Given the description of an element on the screen output the (x, y) to click on. 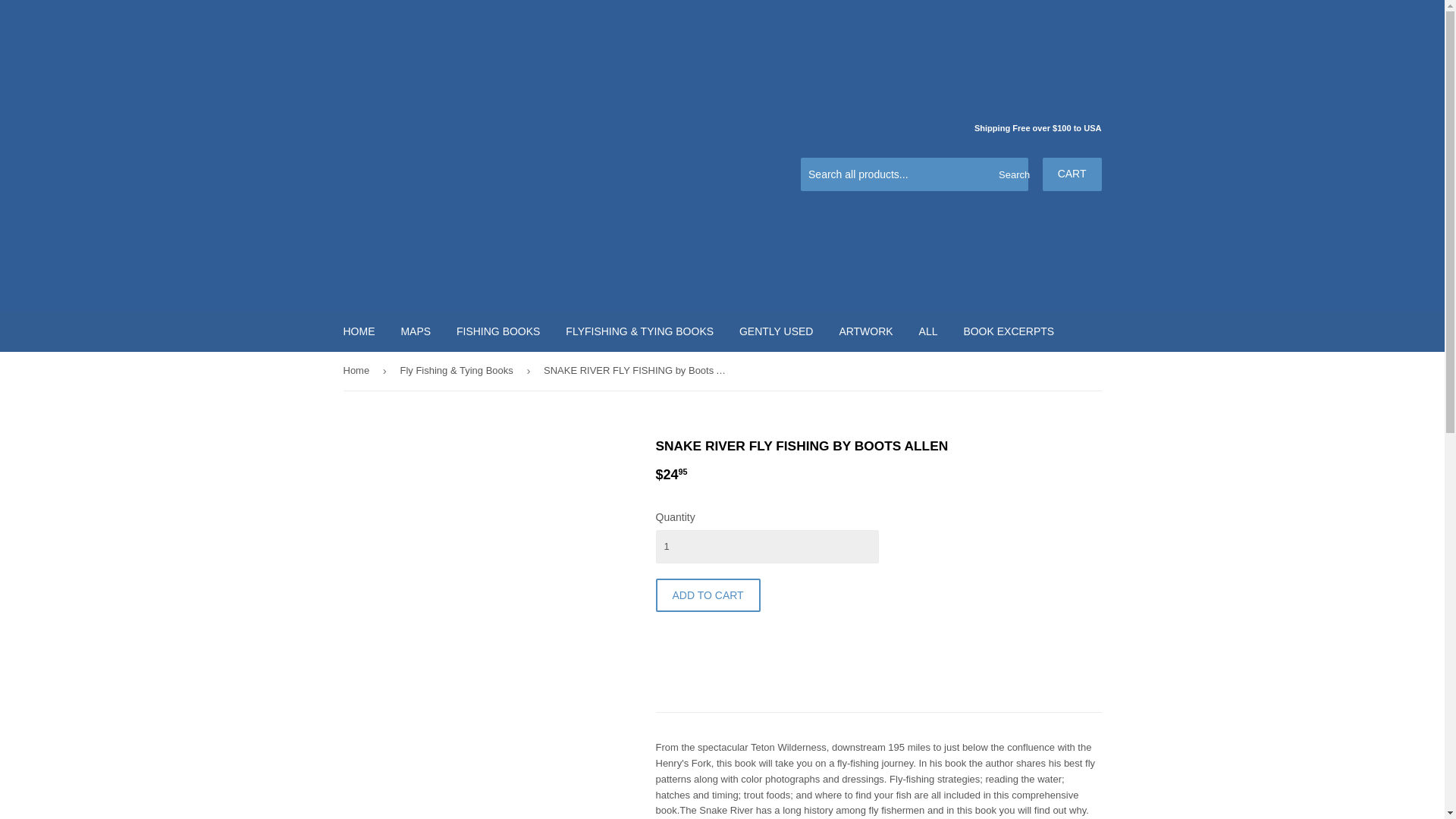
ALL (928, 331)
Search (1010, 174)
CART (1072, 174)
GENTLY USED (776, 331)
ADD TO CART (707, 594)
ARTWORK (865, 331)
BOOK EXCERPTS (1008, 331)
MAPS (415, 331)
HOME (359, 331)
1 (766, 546)
